Given the description of an element on the screen output the (x, y) to click on. 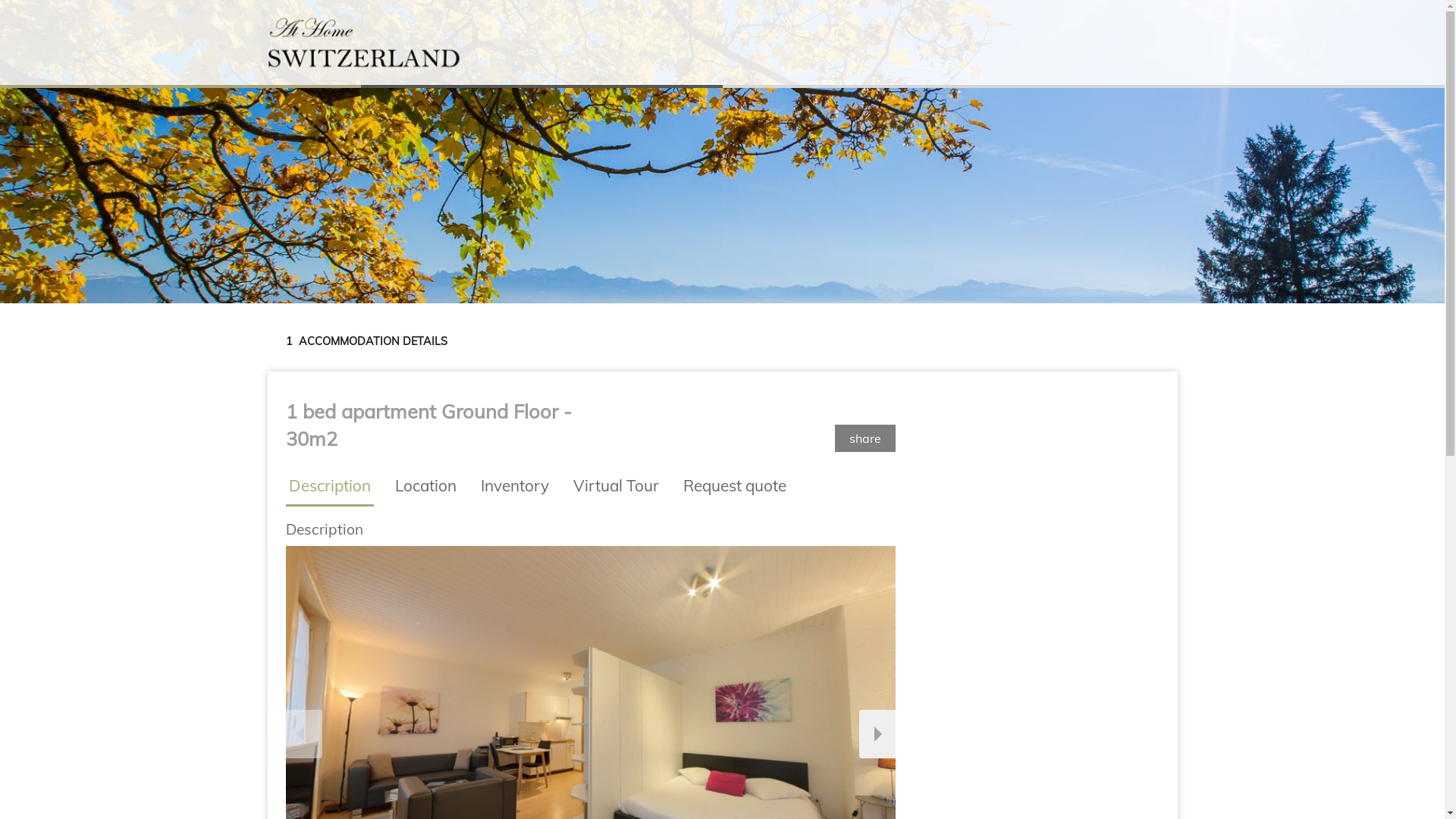
Inventory Element type: text (514, 485)
share Element type: text (864, 437)
ACCOMMODATION DETAILS Element type: text (365, 342)
Description Element type: text (329, 486)
Next Element type: text (877, 733)
Virtual Tour Element type: text (616, 485)
Request quote Element type: text (733, 485)
Previous Element type: text (303, 733)
Location Element type: text (424, 485)
